Given the description of an element on the screen output the (x, y) to click on. 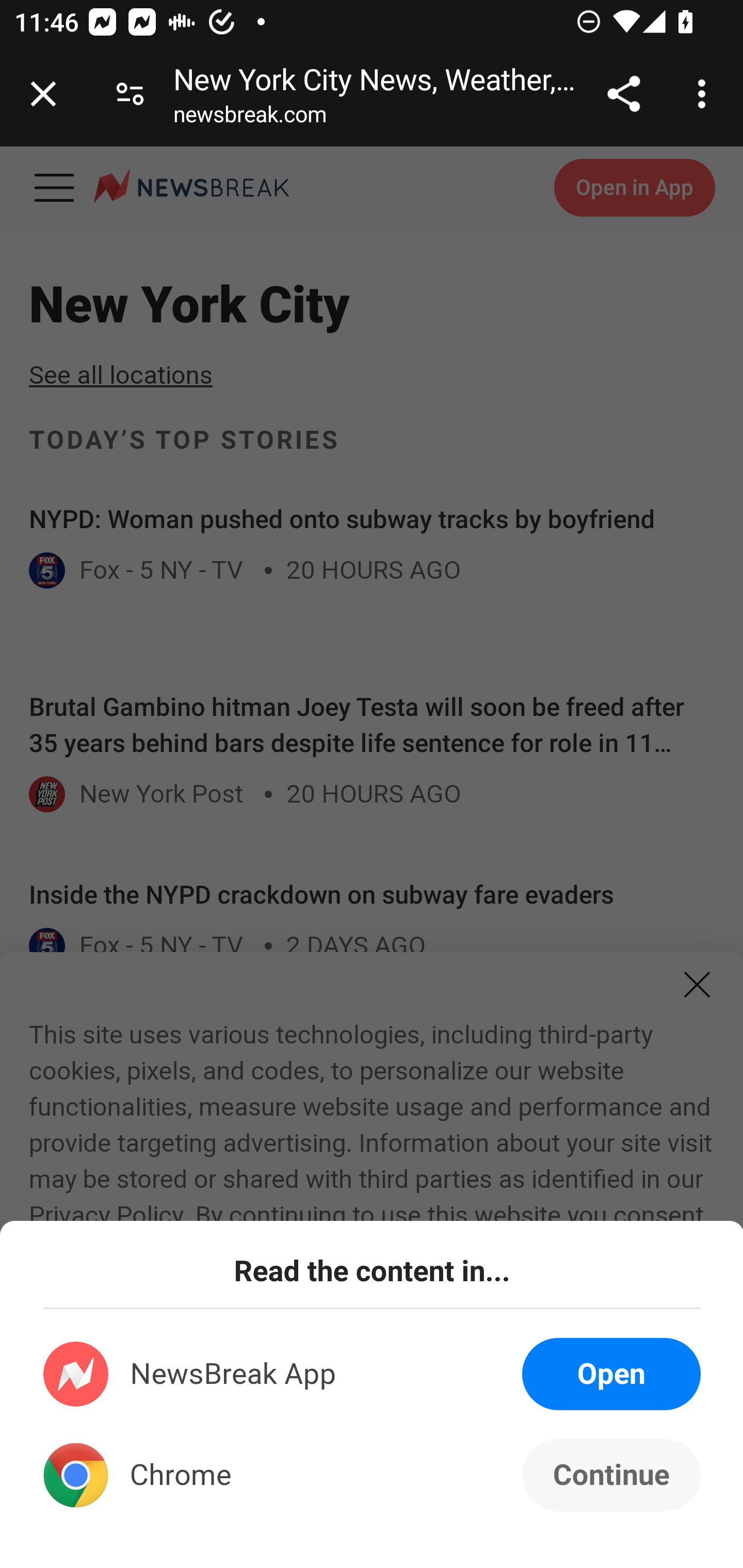
Close tab (43, 93)
Share link address (623, 93)
Customize and control Google Chrome (705, 93)
Connection is secure (129, 93)
newsbreak.com (249, 117)
Download App NewsBreak App NewsBreak App Open (372, 1374)
Open (611, 1374)
Continue (611, 1475)
